Given the description of an element on the screen output the (x, y) to click on. 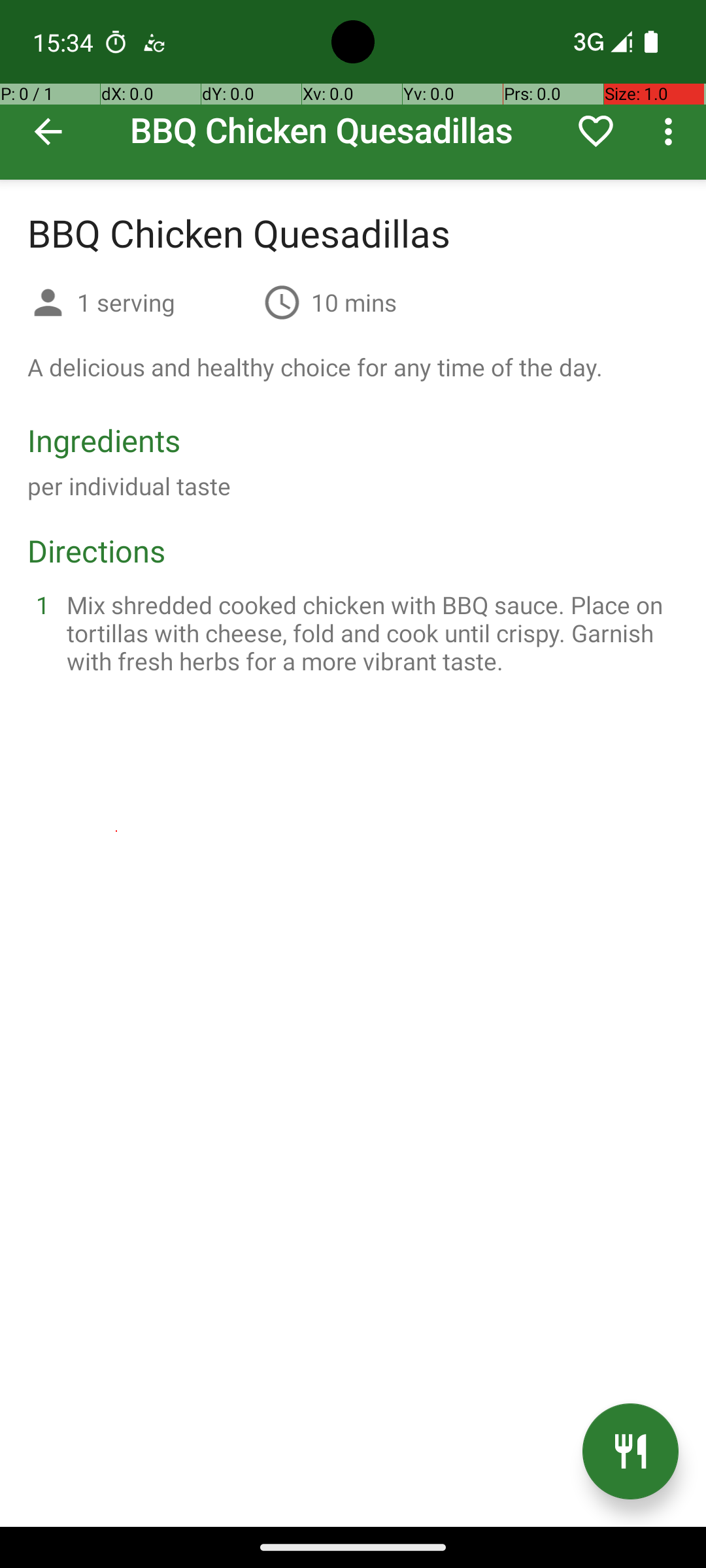
Mix shredded cooked chicken with BBQ sauce. Place on tortillas with cheese, fold and cook until crispy. Garnish with fresh herbs for a more vibrant taste. Element type: android.widget.TextView (368, 632)
